Given the description of an element on the screen output the (x, y) to click on. 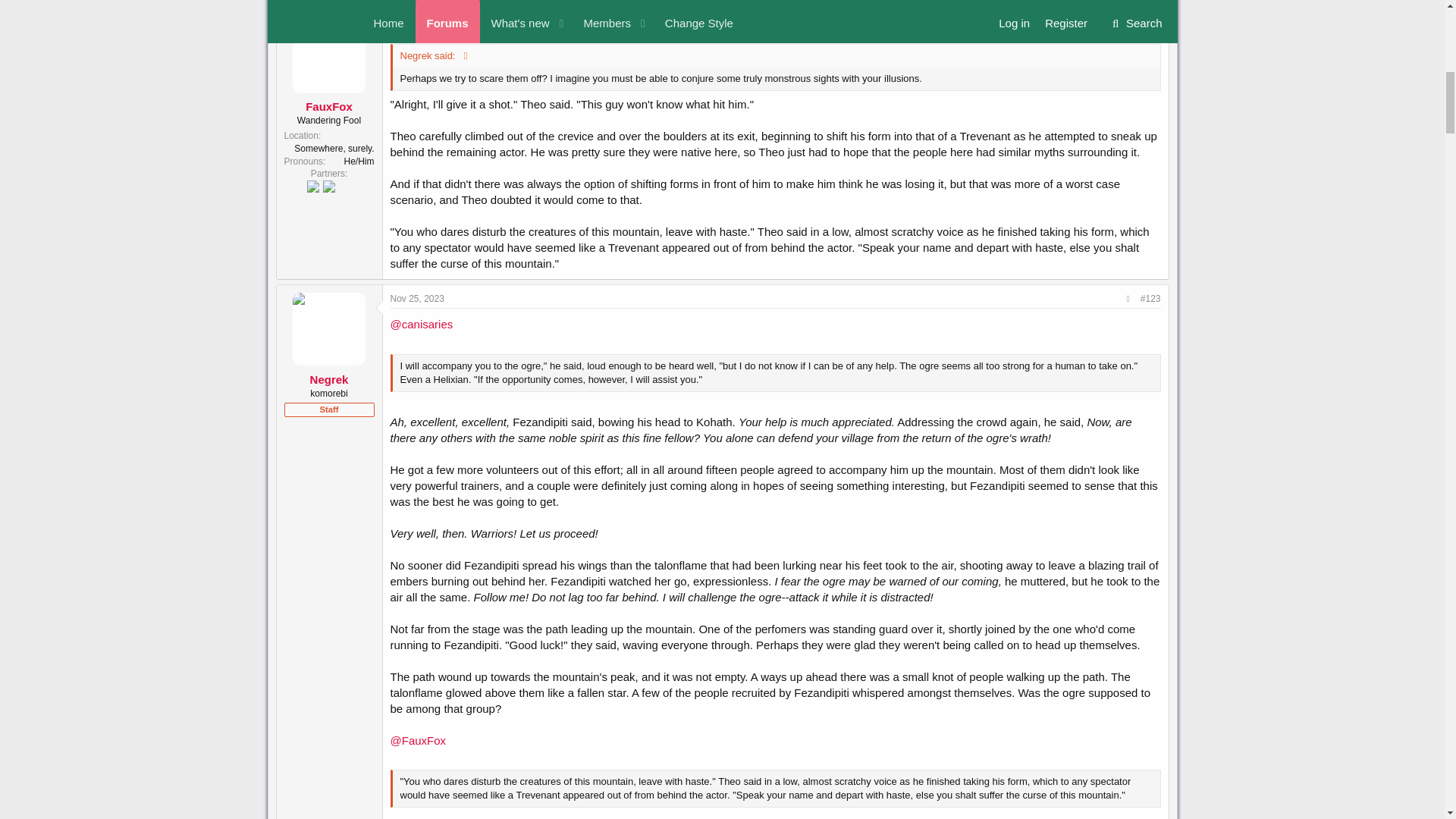
Nov 25, 2023 at 6:22 PM (417, 298)
Nov 24, 2023 at 3:54 PM (417, 26)
